Given the description of an element on the screen output the (x, y) to click on. 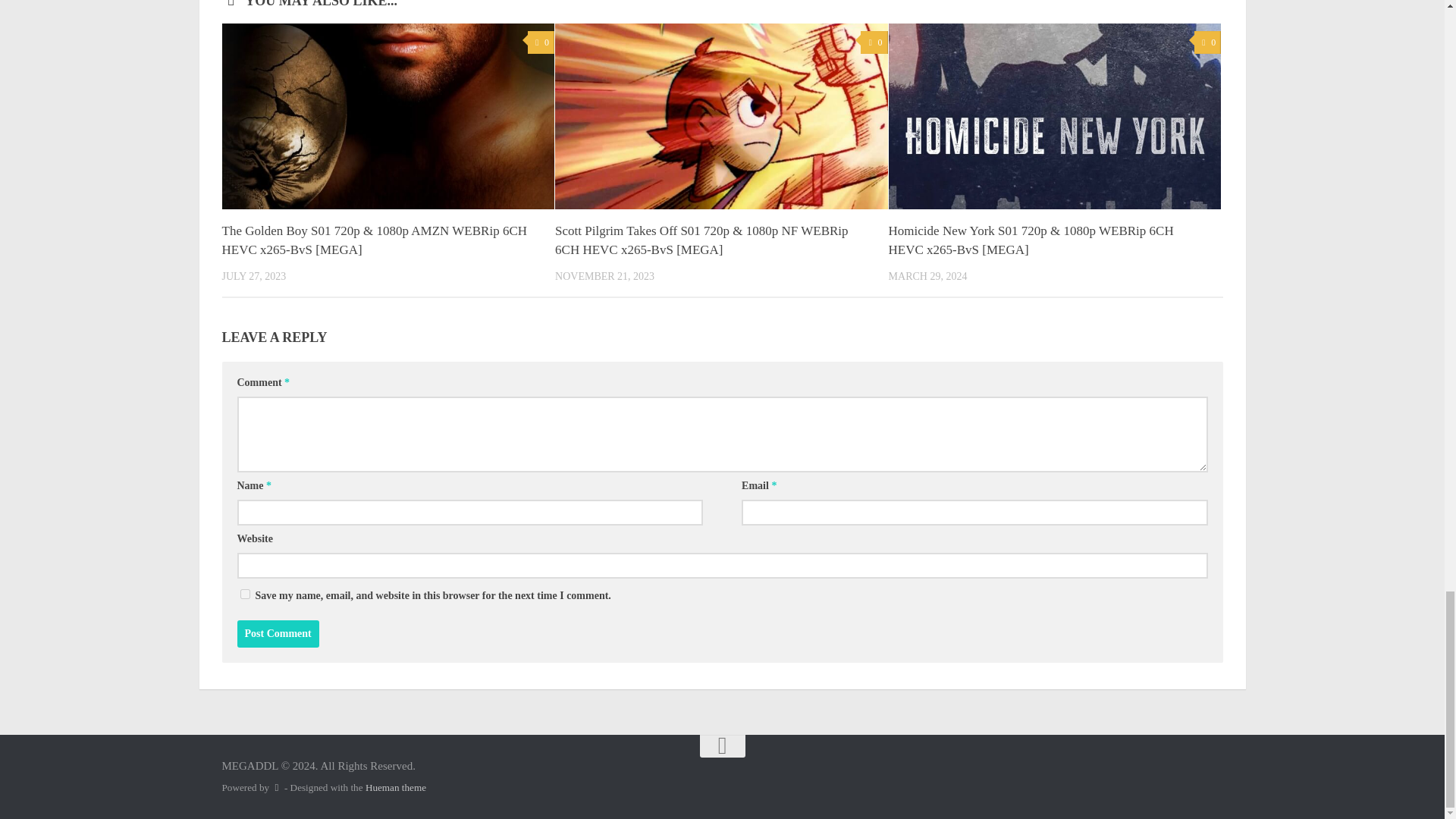
Powered by WordPress (275, 787)
Post Comment (276, 633)
Hueman theme (395, 787)
Post Comment (276, 633)
Hueman theme (395, 787)
0 (540, 42)
0 (873, 42)
yes (244, 593)
0 (1207, 42)
